Given the description of an element on the screen output the (x, y) to click on. 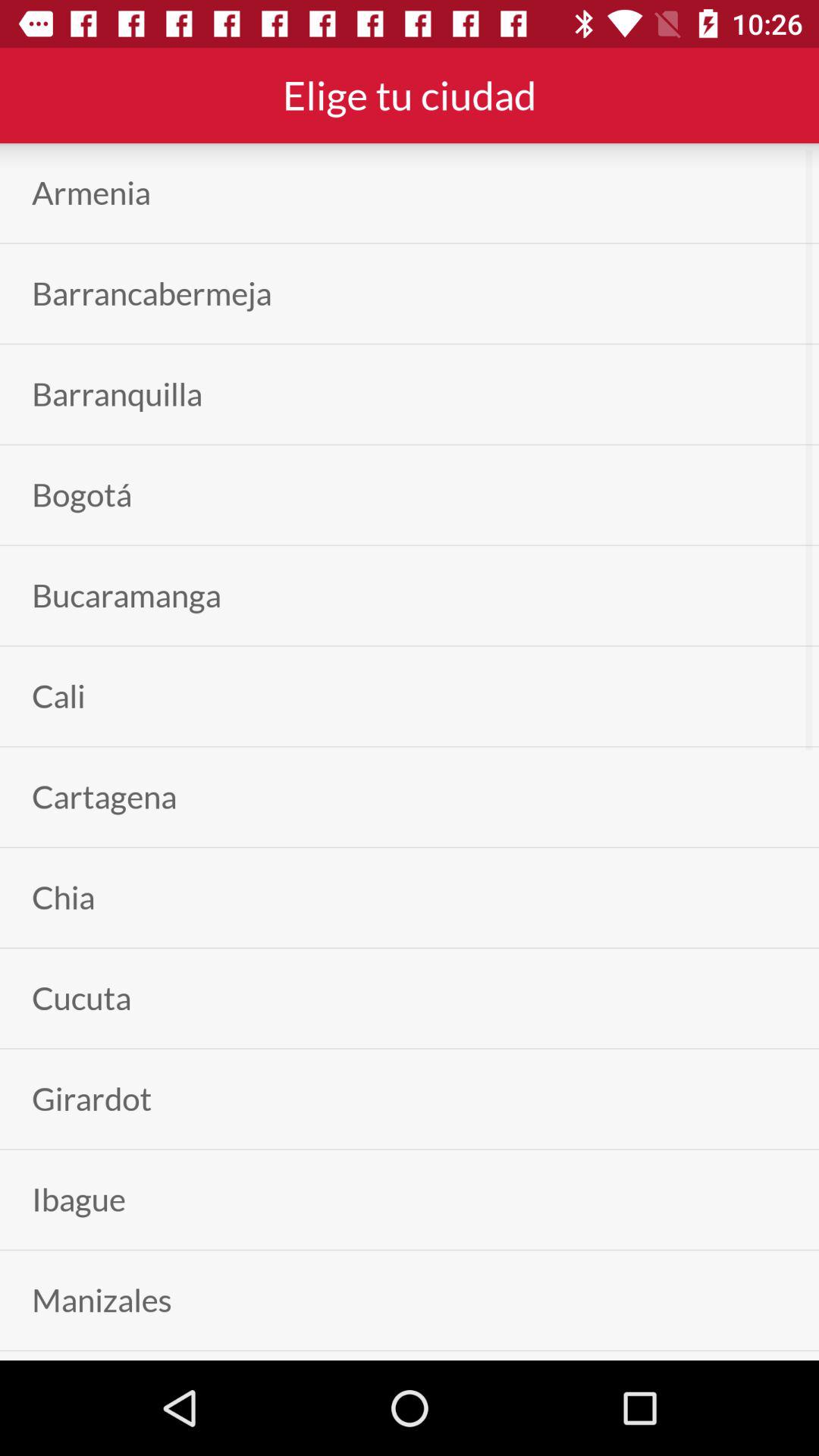
open cucuta (81, 998)
